Given the description of an element on the screen output the (x, y) to click on. 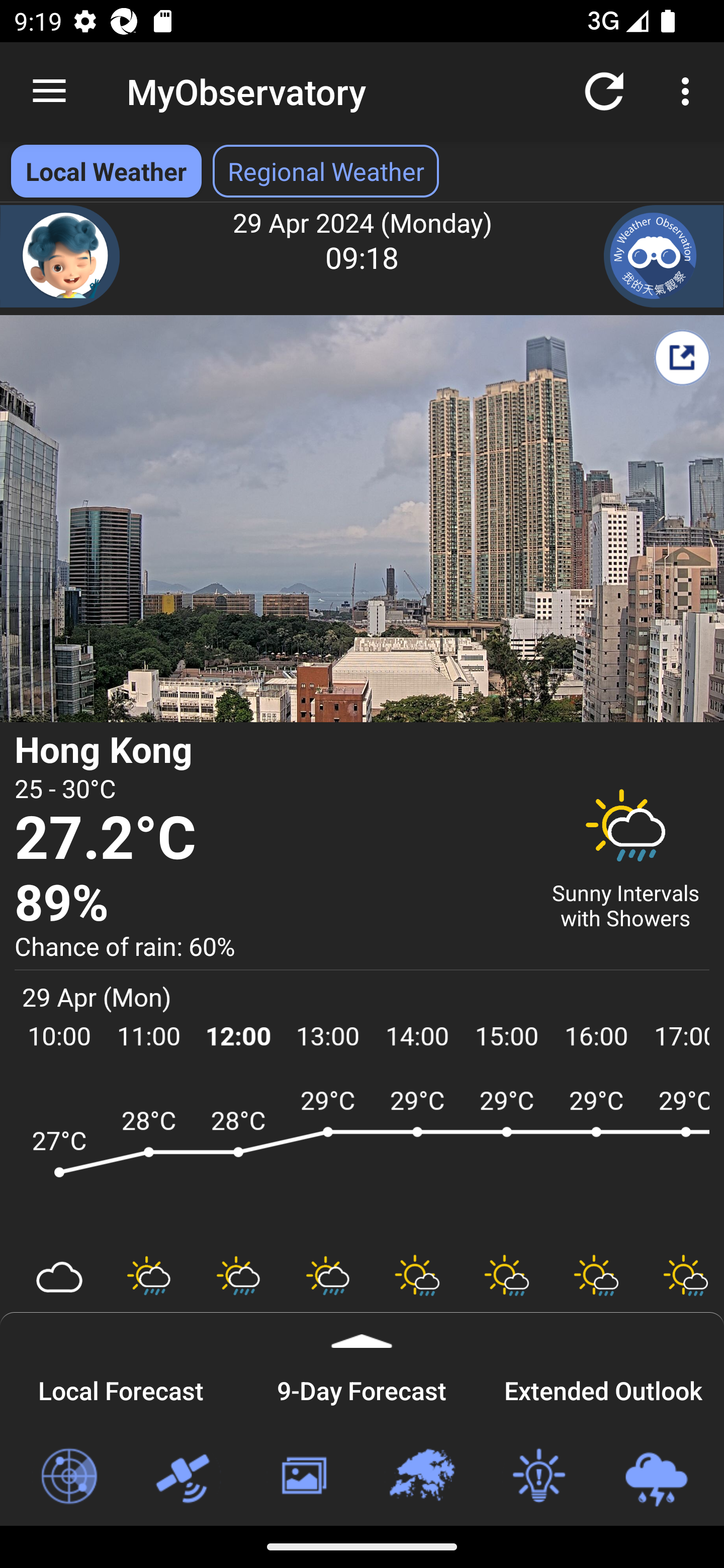
Navigate up (49, 91)
Refresh (604, 90)
More options (688, 90)
Local Weather Local Weather selected (105, 170)
Regional Weather Select Regional Weather (325, 170)
Chatbot (60, 256)
My Weather Observation (663, 256)
Share My Weather Report (681, 357)
27.2°C Temperature
27.2 degree Celsius (270, 839)
89% Relative Humidity
89 percent (270, 903)
ARWF (361, 1160)
Expand (362, 1330)
Local Forecast (120, 1387)
Extended Outlook (603, 1387)
Radar Images (68, 1476)
Satellite Images (185, 1476)
Weather Photos (302, 1476)
Regional Weather (420, 1476)
Weather Tips (537, 1476)
Loc-based Rain & Lightning Forecast (655, 1476)
